Given the description of an element on the screen output the (x, y) to click on. 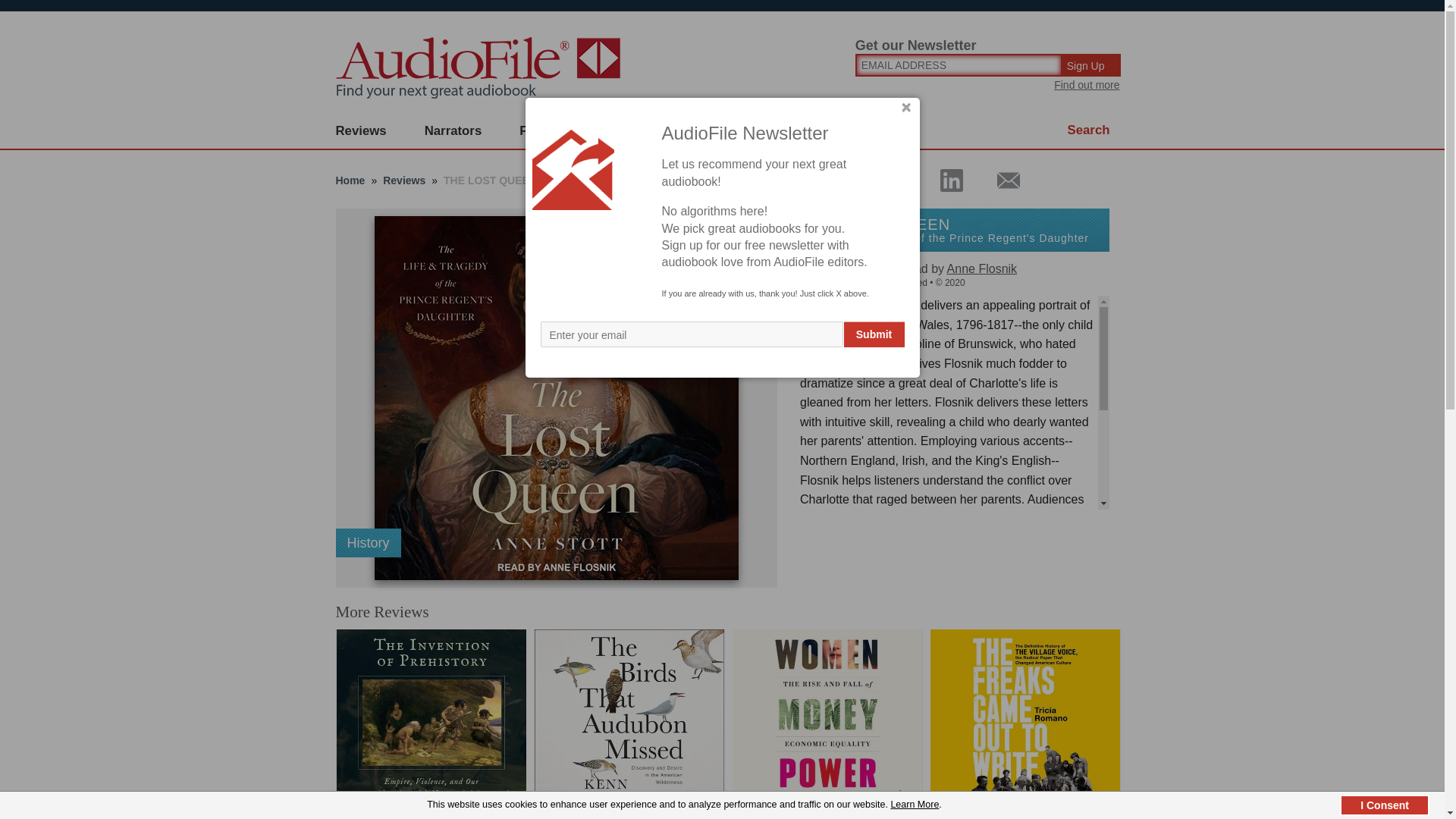
Sign Up (1091, 65)
Reviews (360, 131)
Find out more (1086, 84)
AudioFileMagazine - Share by Email (999, 180)
Search (1089, 130)
Submit (873, 334)
Narrators (453, 131)
Articles (808, 131)
Features (545, 131)
About (727, 131)
Subscribe (640, 131)
